Given the description of an element on the screen output the (x, y) to click on. 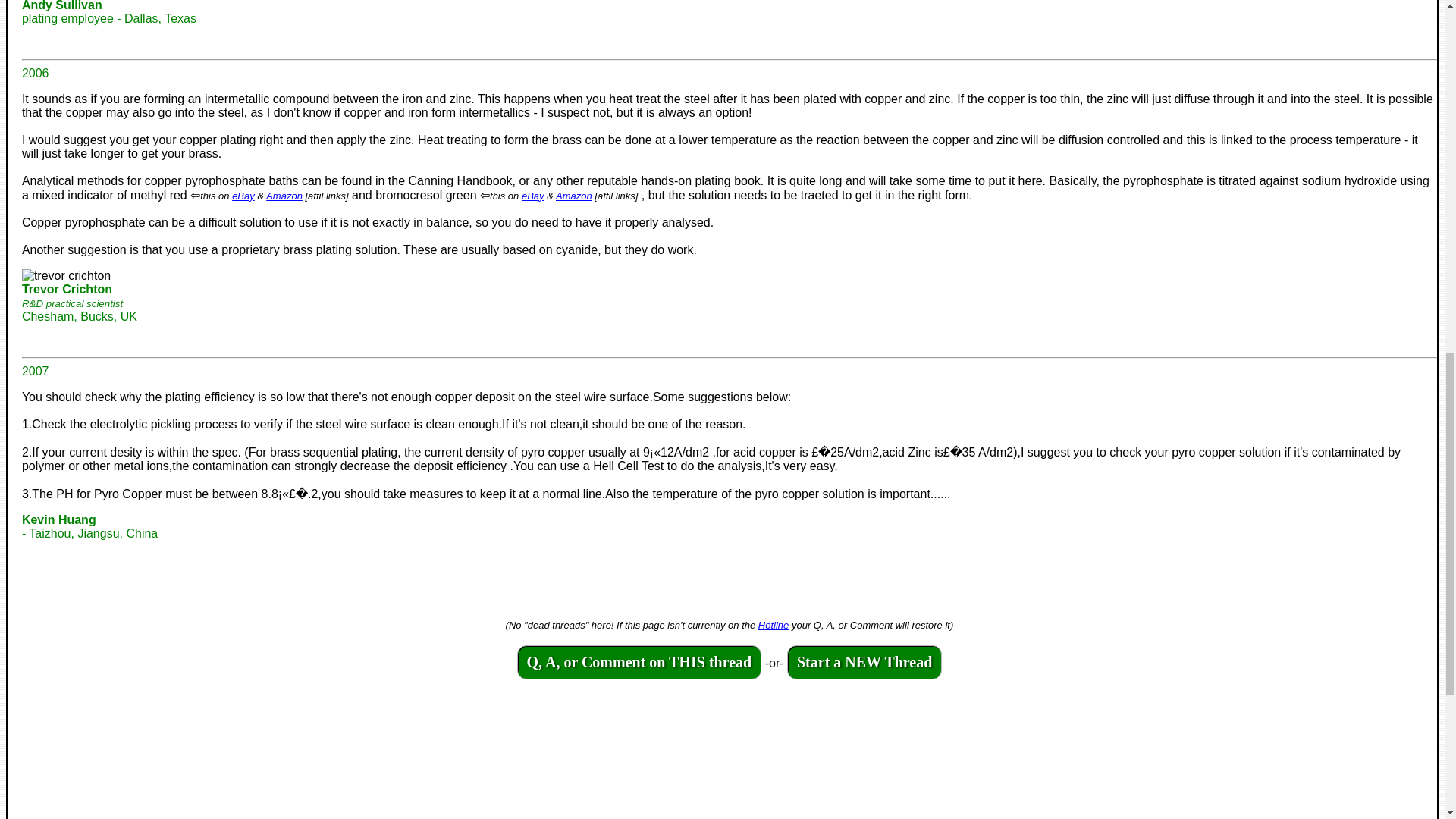
Amazon (574, 195)
eBay (242, 195)
eBay (532, 195)
Advertisement (476, 767)
Amazon (284, 195)
Start a NEW Thread (864, 662)
Q, A, or Comment on THIS thread (638, 662)
Hotline (773, 624)
